Given the description of an element on the screen output the (x, y) to click on. 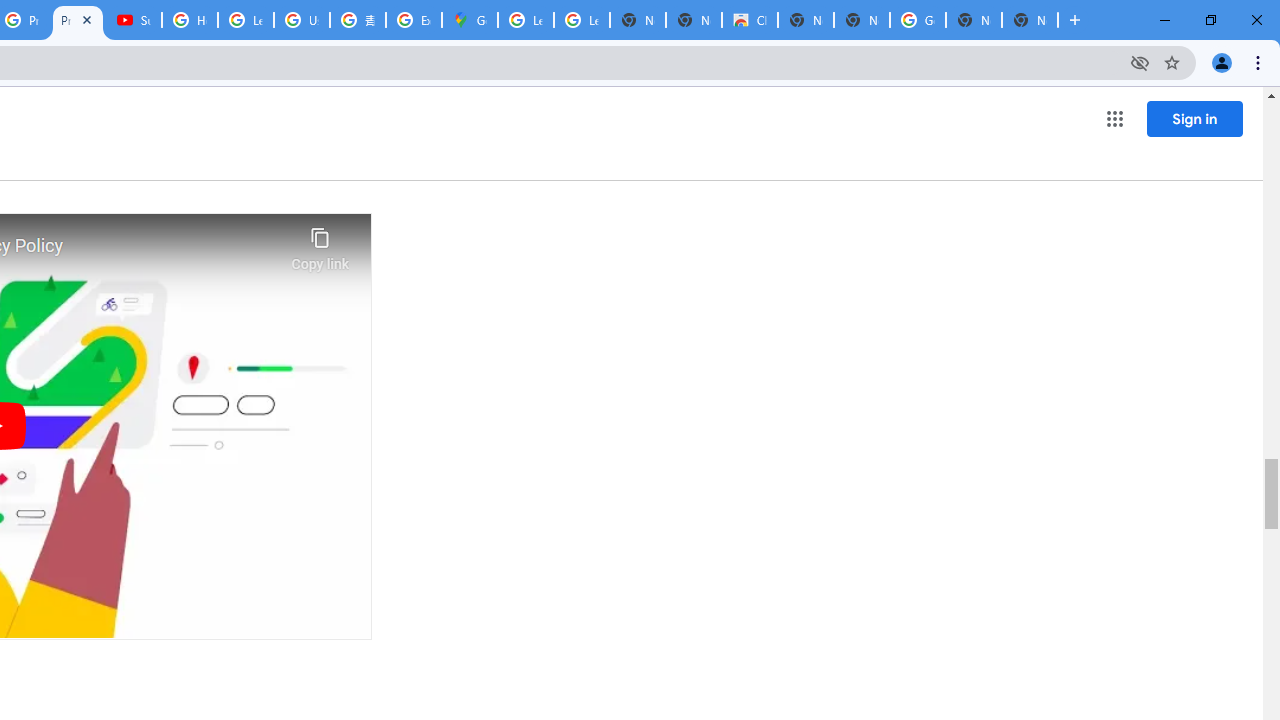
Google Maps (469, 20)
Chrome Web Store (749, 20)
